Given the description of an element on the screen output the (x, y) to click on. 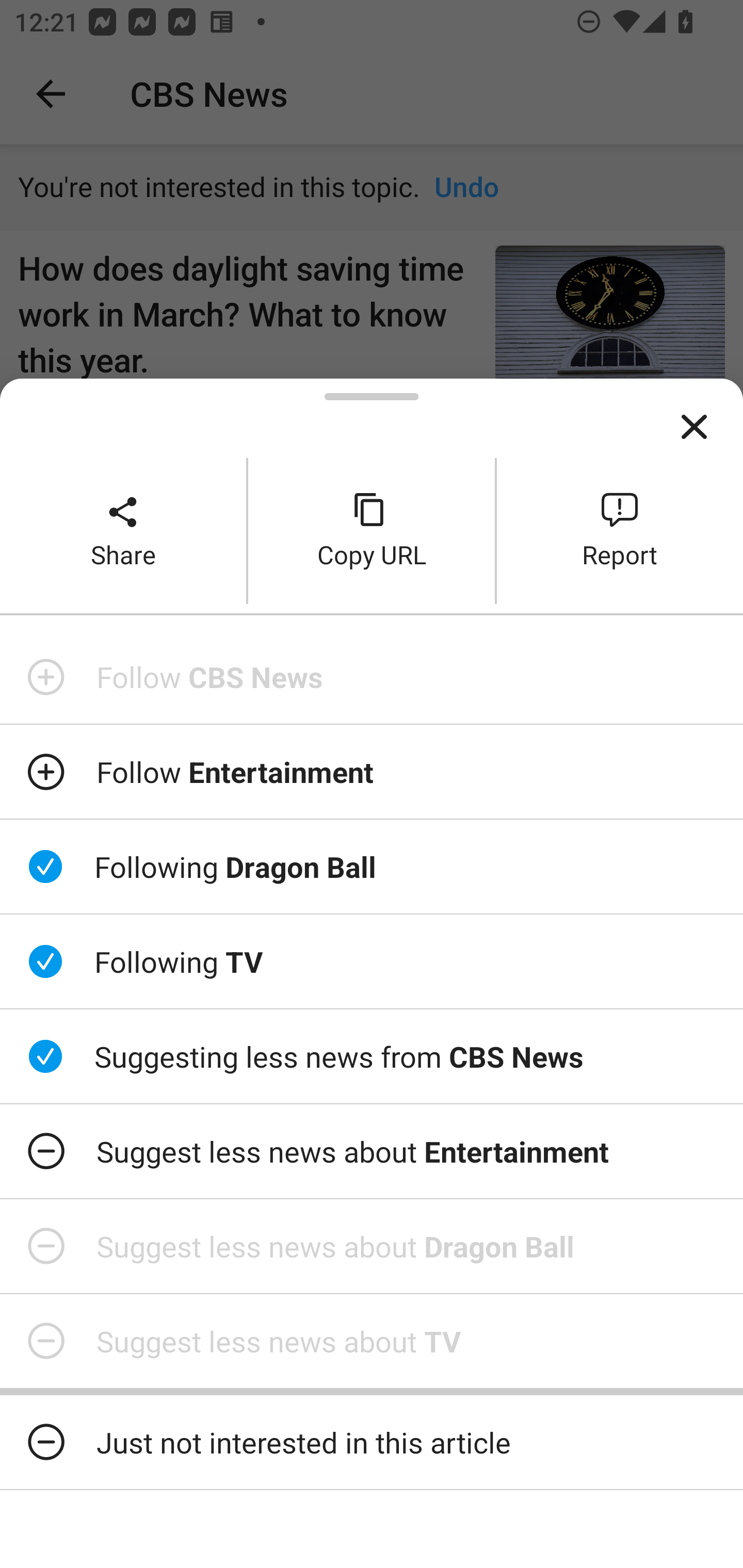
Close (694, 426)
Share (122, 530)
Copy URL (371, 530)
Report (620, 530)
Follow Entertainment (371, 771)
Following Dragon Ball  (371, 867)
Following TV (371, 961)
Suggesting less news from CBS News (371, 1056)
Suggest less news about Entertainment (371, 1150)
Suggest less news about Dragon Ball  (371, 1246)
Just not interested in this article (371, 1442)
